Given the description of an element on the screen output the (x, y) to click on. 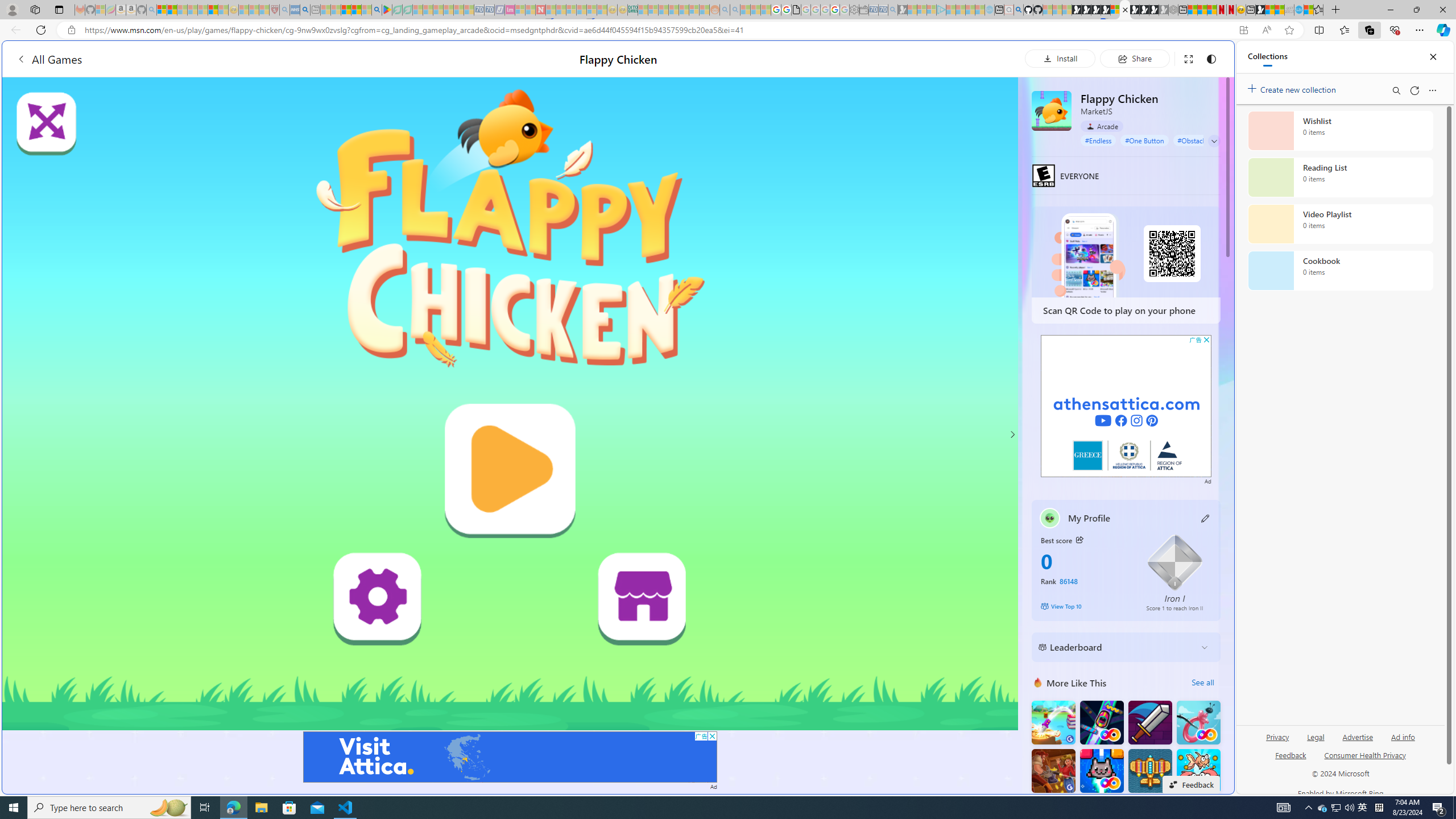
See all (1202, 682)
More Like This (1037, 682)
Reading List collection, 0 items (1339, 177)
